Given the description of an element on the screen output the (x, y) to click on. 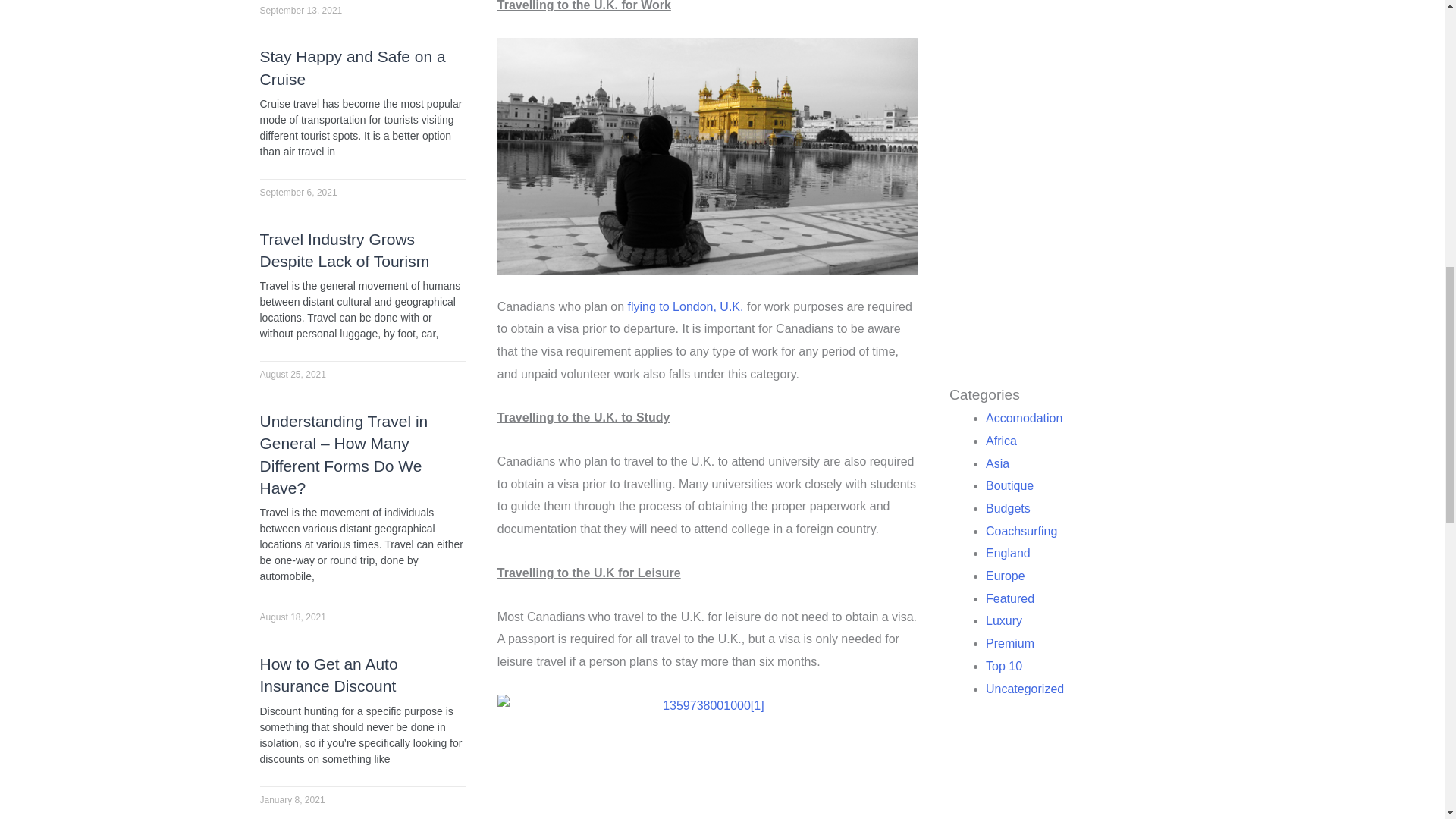
How to Get an Auto Insurance Discount (328, 674)
Travel Industry Grows Despite Lack of Tourism (344, 250)
Stay Happy and Safe on a Cruise (352, 66)
